Given the description of an element on the screen output the (x, y) to click on. 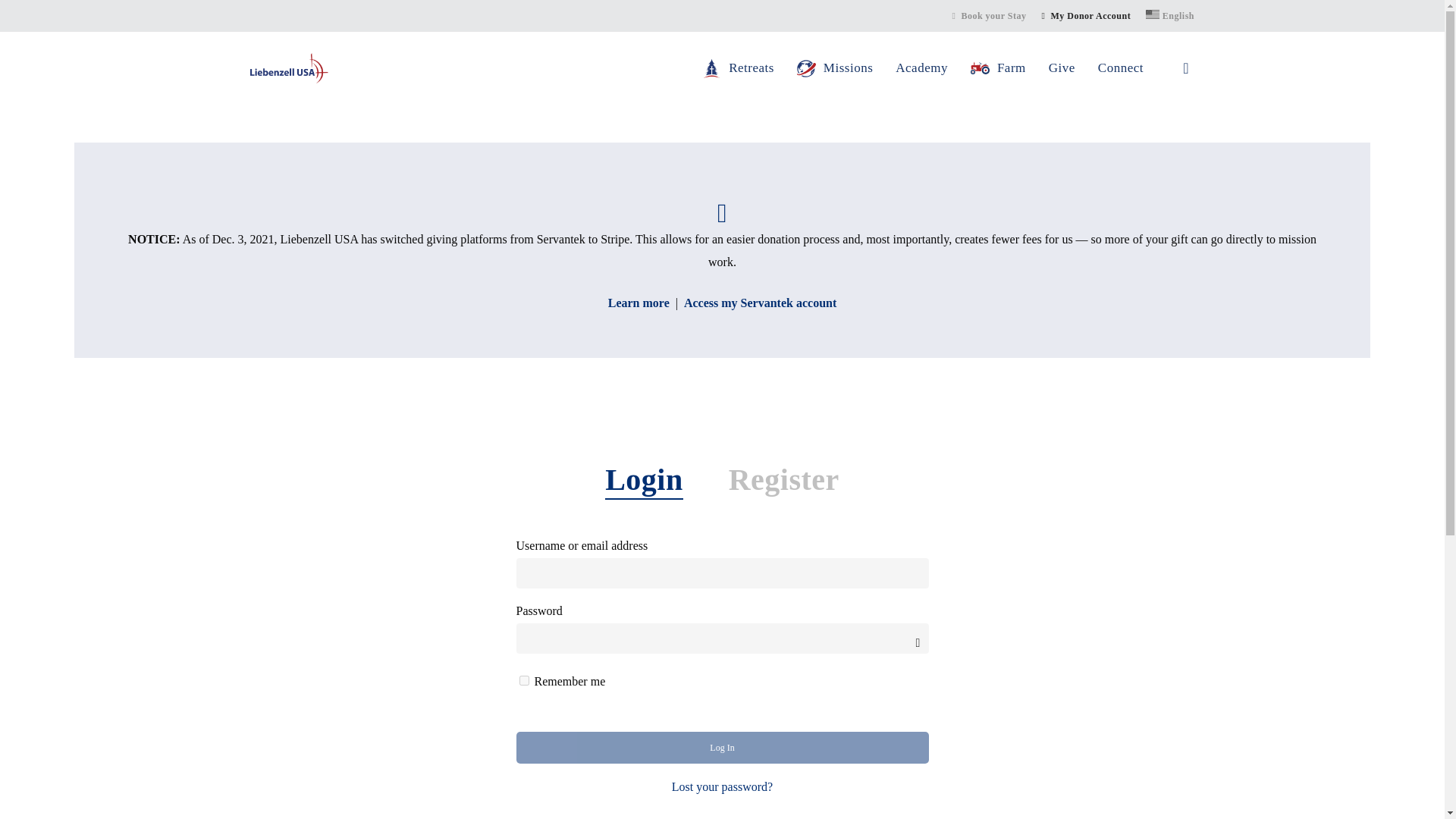
English (1169, 15)
forever (523, 680)
Missions (834, 67)
Retreats (738, 67)
English (1169, 15)
My Donor Account (1086, 15)
Book your Stay (989, 15)
Academy (921, 68)
